Given the description of an element on the screen output the (x, y) to click on. 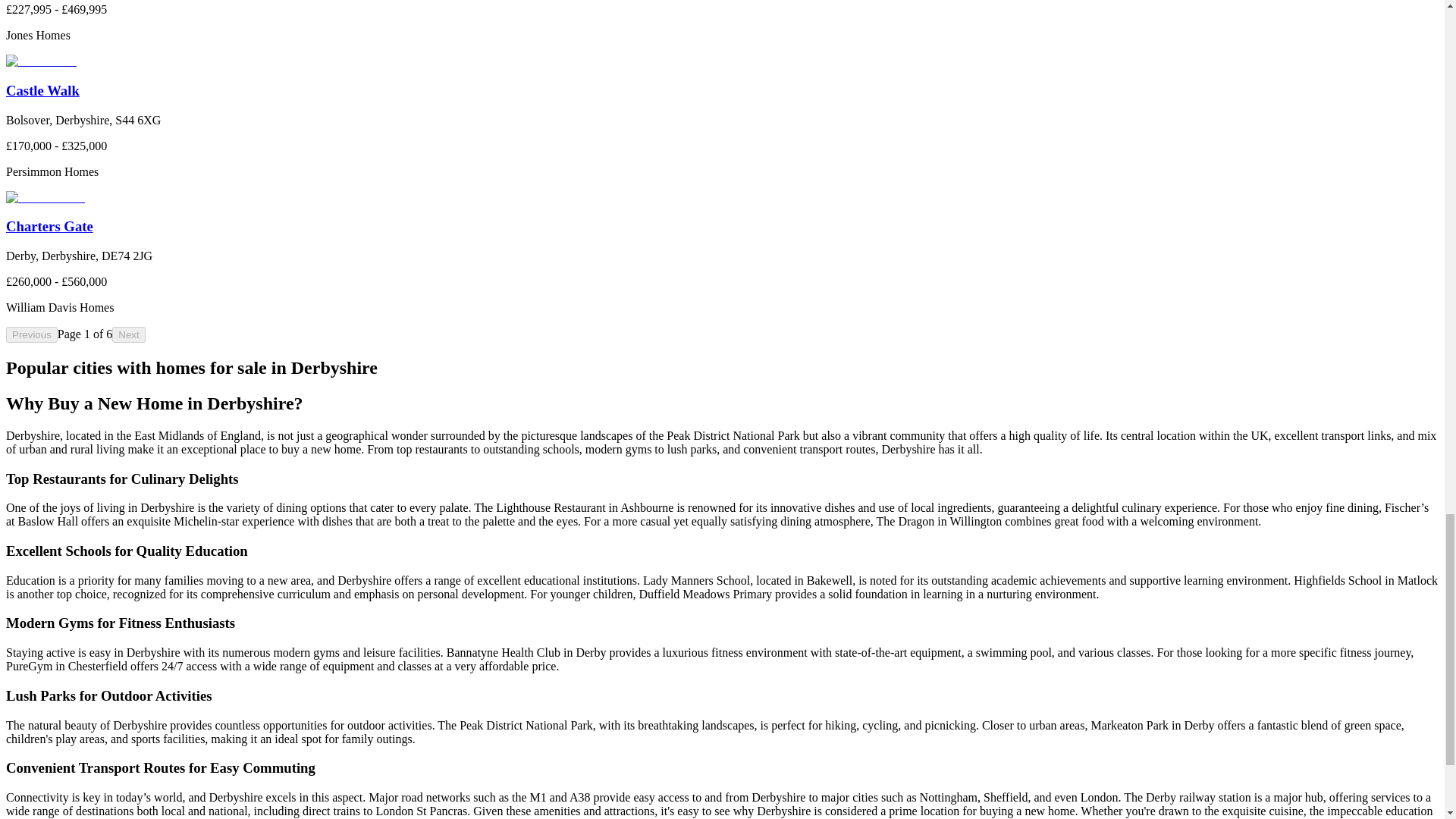
Previous (31, 334)
